Given the description of an element on the screen output the (x, y) to click on. 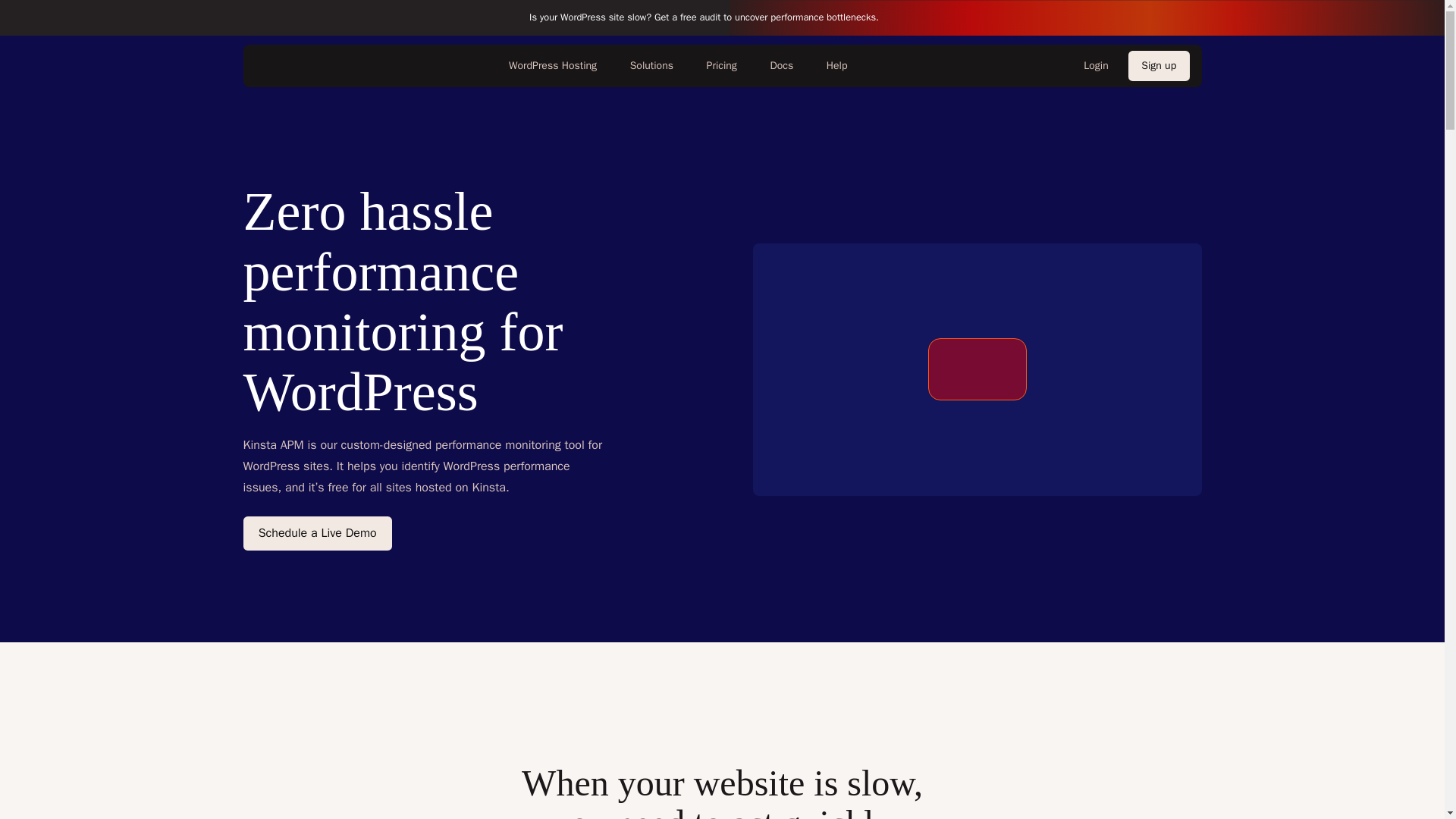
WordPress Hosting (552, 65)
Help (836, 65)
Solutions (650, 65)
Dismiss banner (1414, 18)
Pricing (721, 65)
Docs (780, 65)
